Given the description of an element on the screen output the (x, y) to click on. 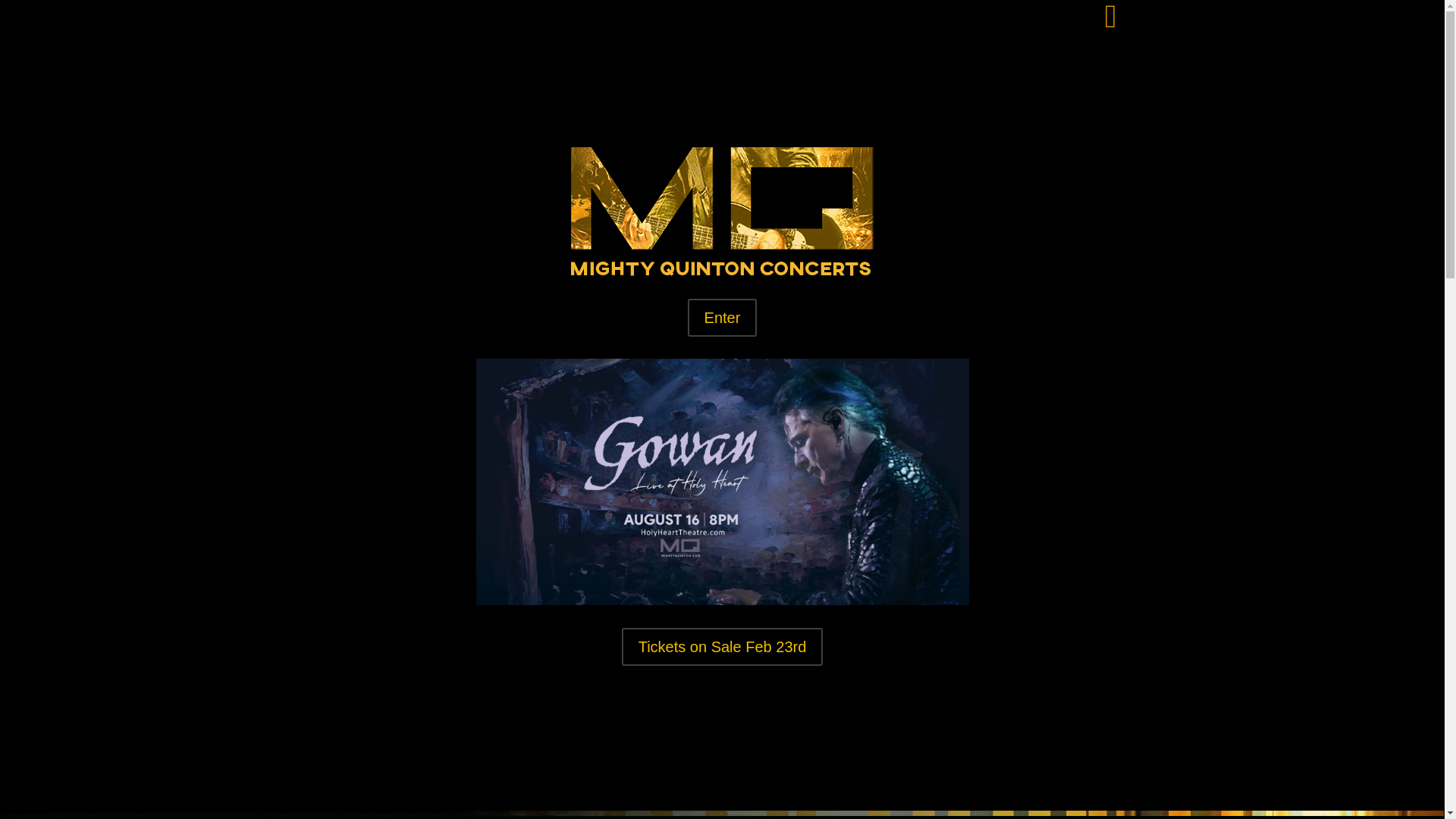
Enter (722, 317)
gowan-header (722, 481)
Tickets on Sale Feb 23rd (722, 646)
